Given the description of an element on the screen output the (x, y) to click on. 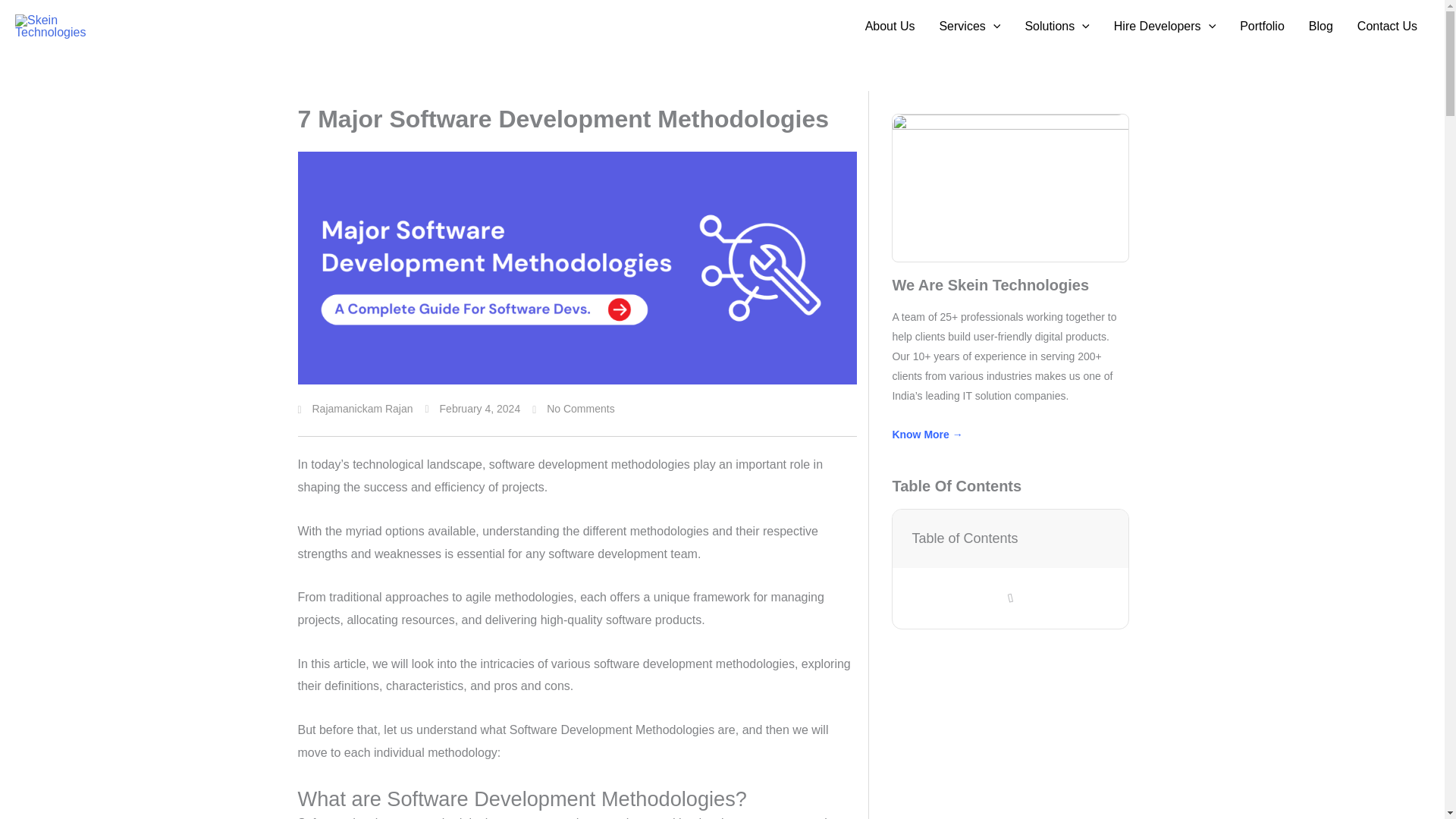
Portfolio (1262, 26)
Services (968, 26)
Contact Us (1387, 26)
About Us (890, 26)
Blog (1321, 26)
Hire Developers (1164, 26)
Solutions (1055, 26)
